Given the description of an element on the screen output the (x, y) to click on. 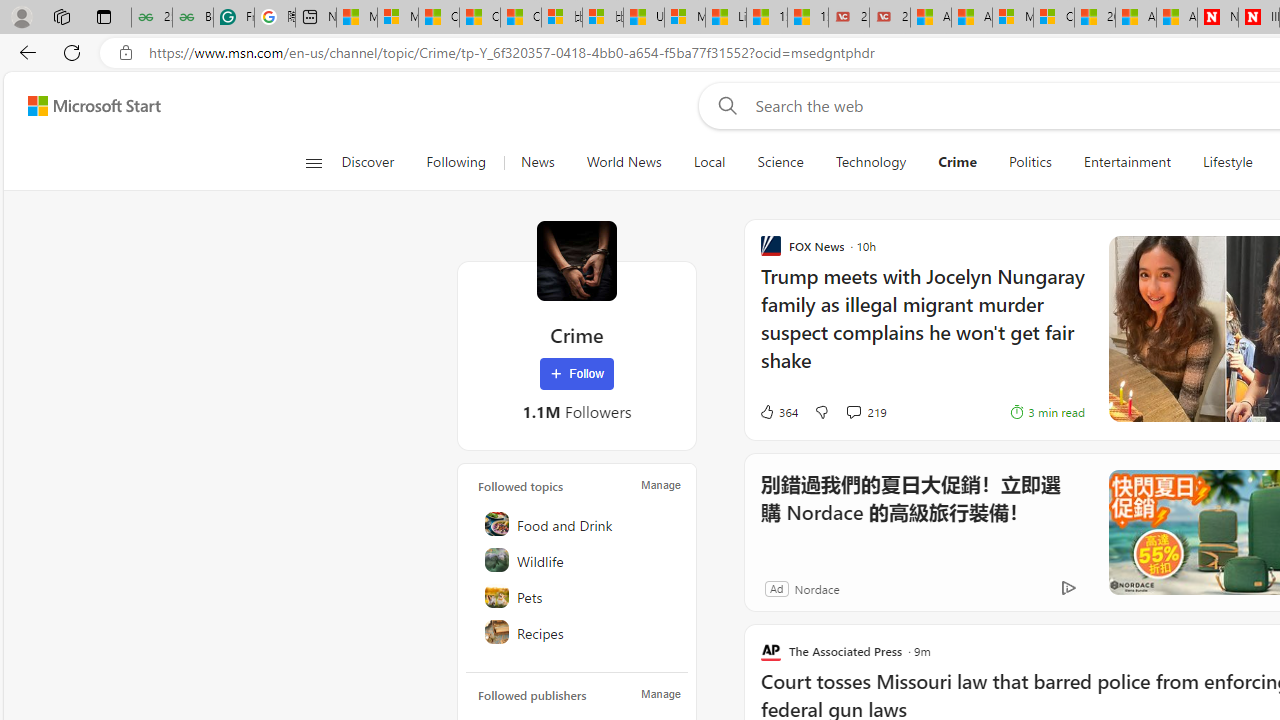
21 Movies That Outdid the Books They Were Based On (890, 17)
View comments 219 Comment (865, 412)
